Given the description of an element on the screen output the (x, y) to click on. 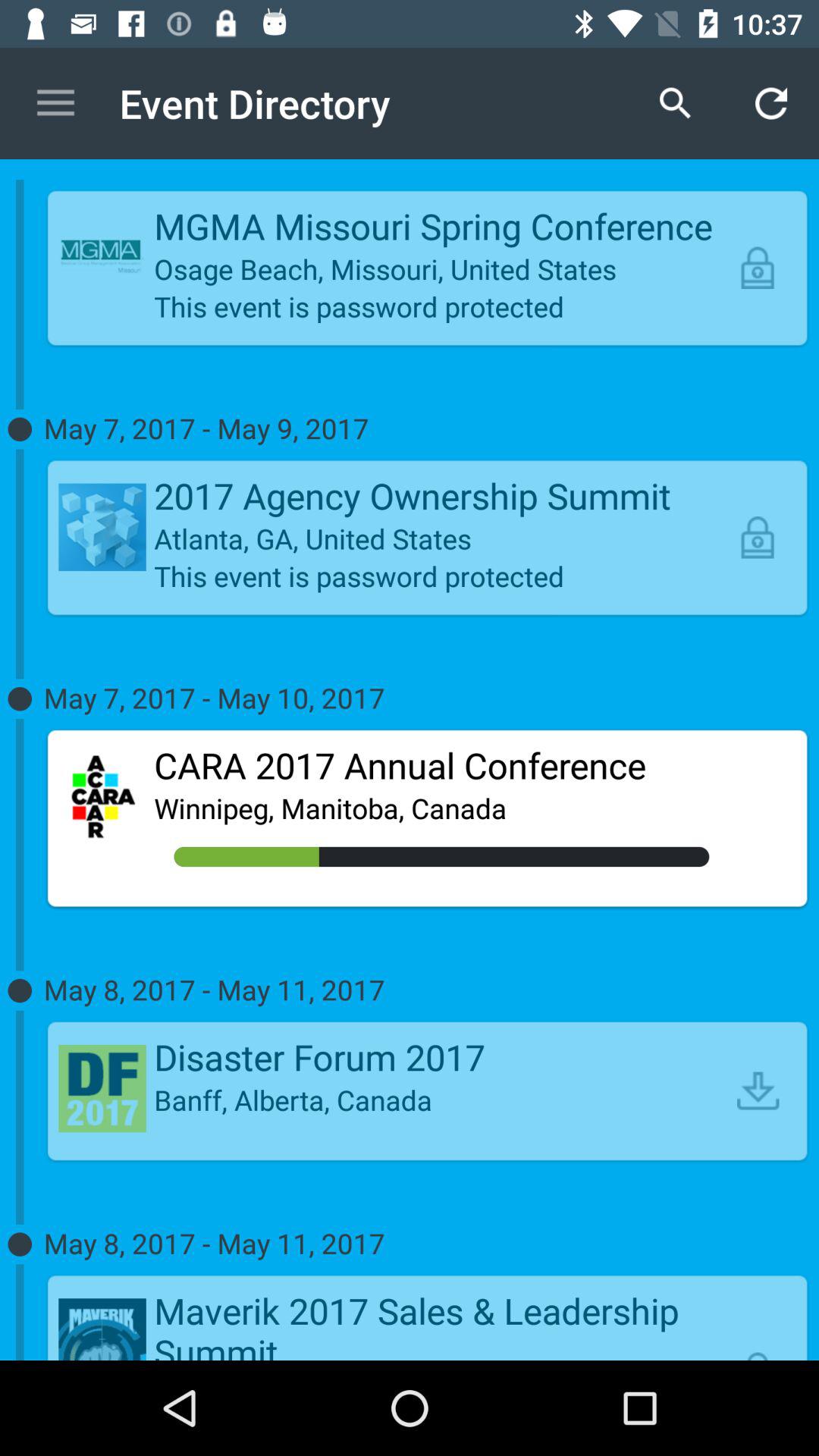
click the icon below may 8 2017 item (441, 1323)
